Given the description of an element on the screen output the (x, y) to click on. 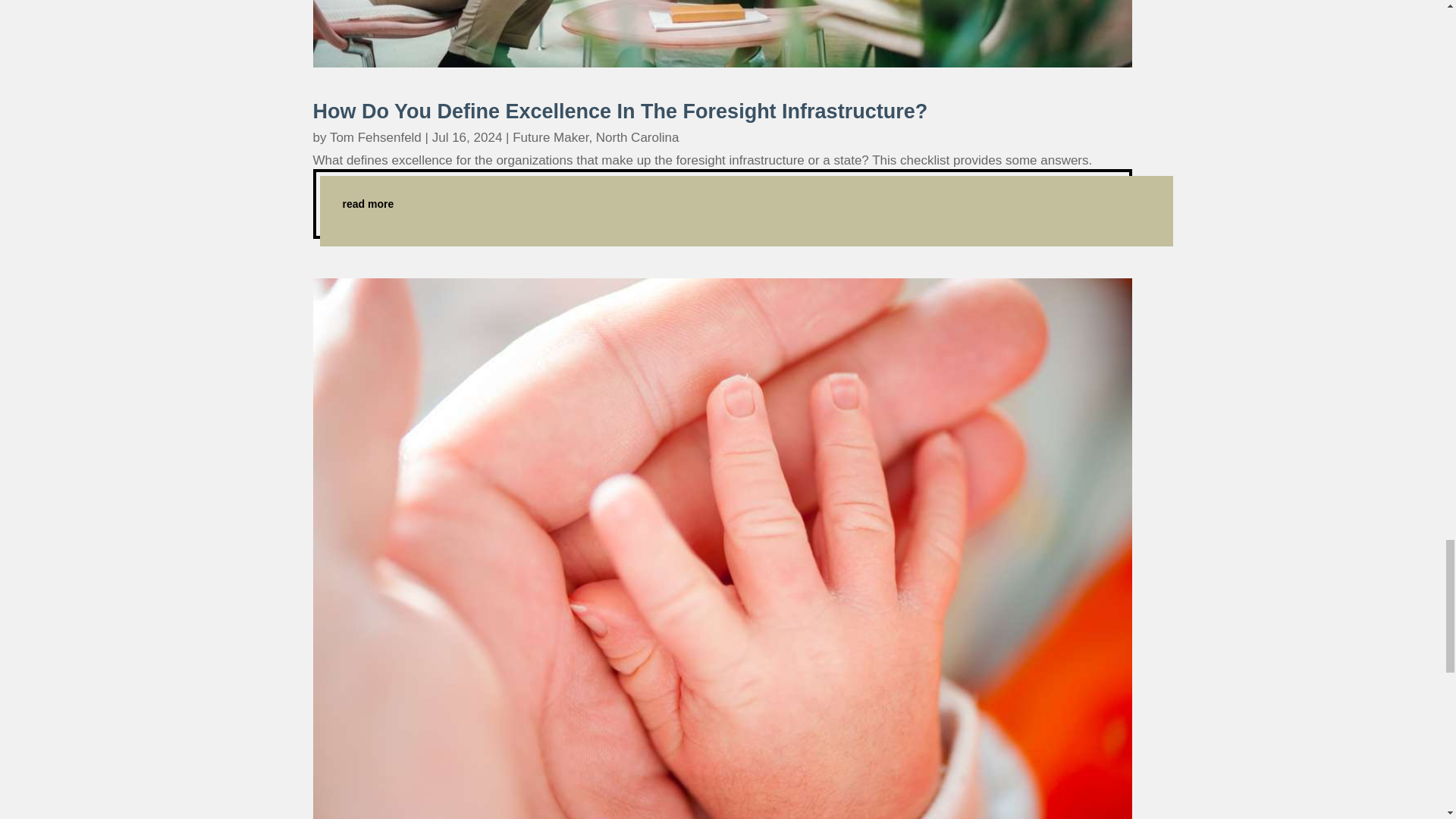
read more (722, 203)
Future Maker (550, 137)
Tom Fehsenfeld (376, 137)
North Carolina (637, 137)
Posts by Tom Fehsenfeld (376, 137)
